Given the description of an element on the screen output the (x, y) to click on. 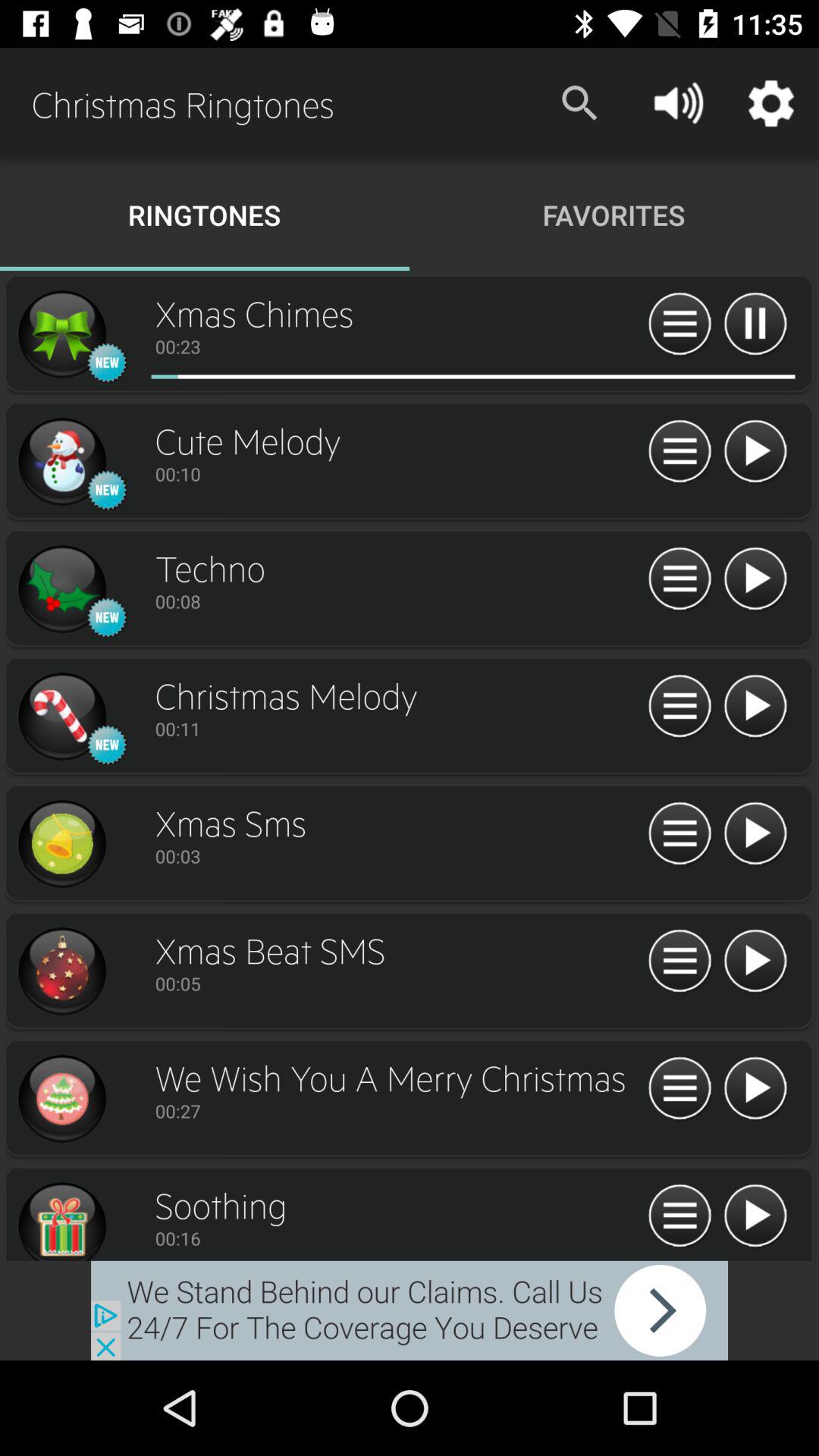
menu icon (679, 706)
